Given the description of an element on the screen output the (x, y) to click on. 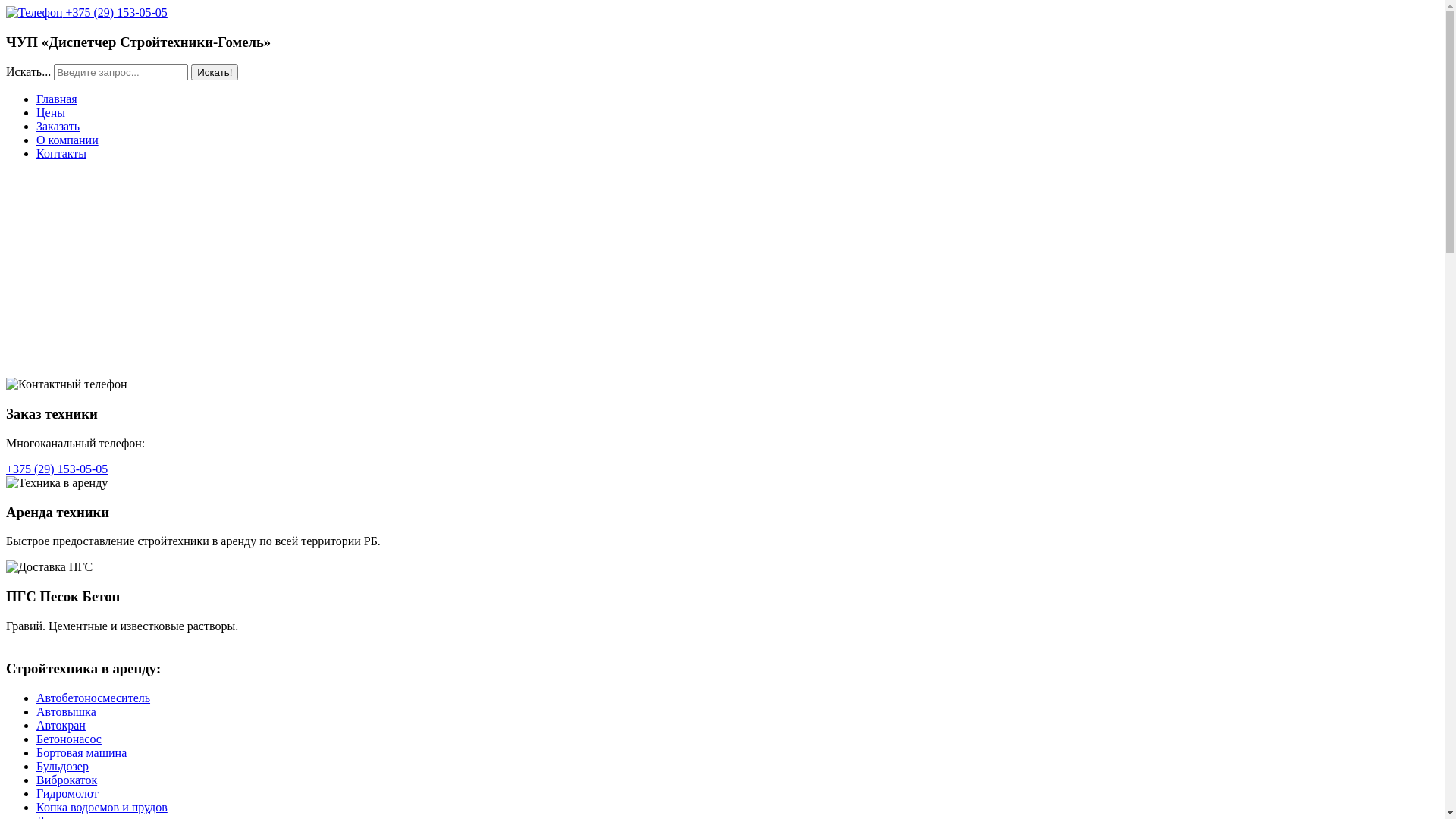
+375 (29) 153-05-05 Element type: text (86, 12)
+375 (29) 153-05-05 Element type: text (56, 468)
